Given the description of an element on the screen output the (x, y) to click on. 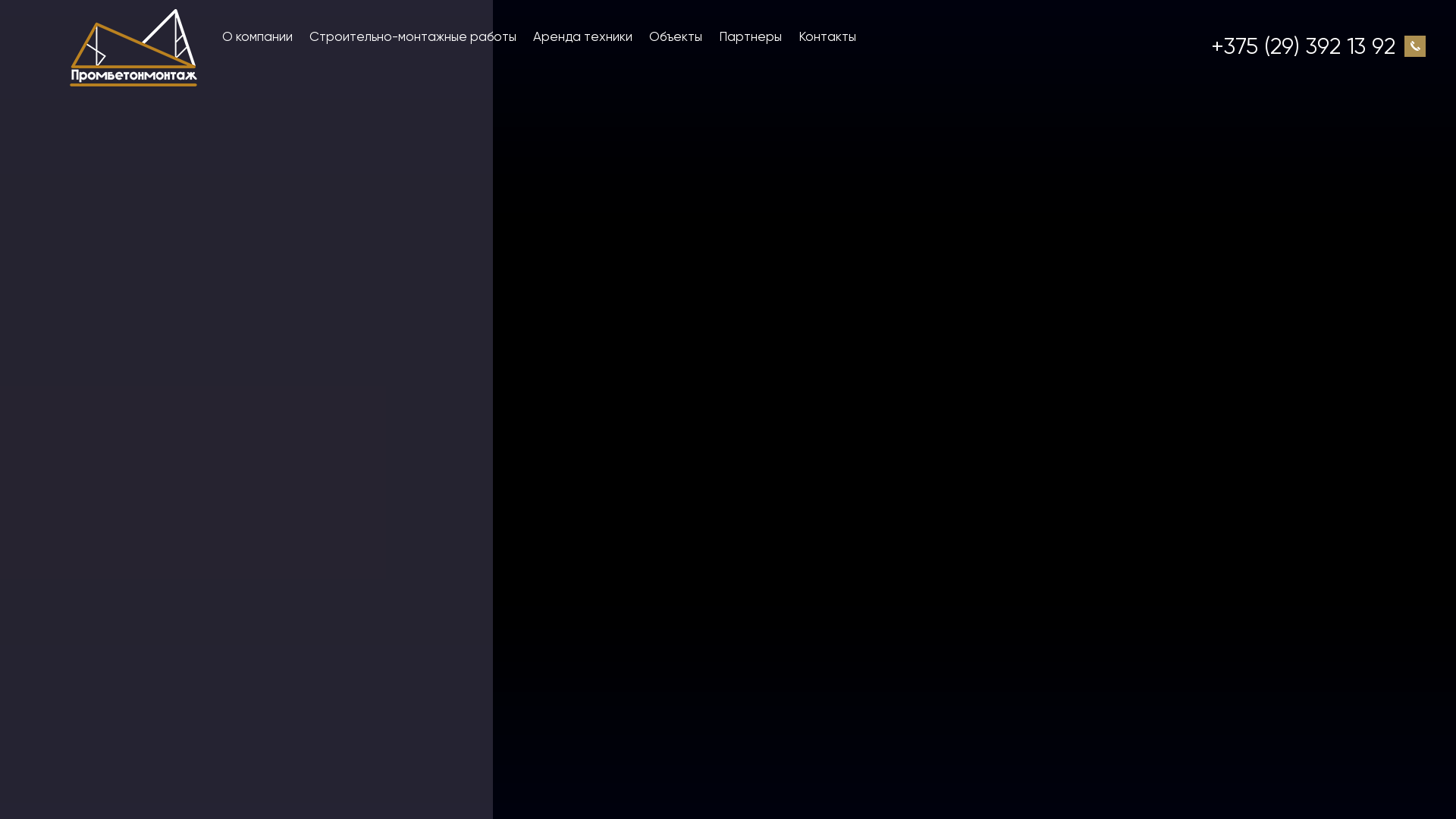
+375 (29) 392 13 92 Element type: text (1303, 45)
